Given the description of an element on the screen output the (x, y) to click on. 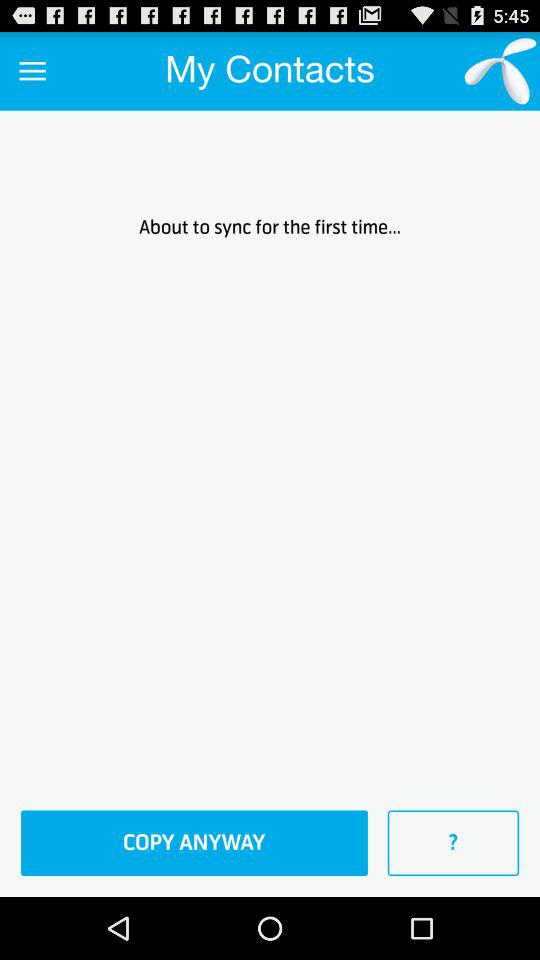
click the copy anyway icon (194, 843)
